Given the description of an element on the screen output the (x, y) to click on. 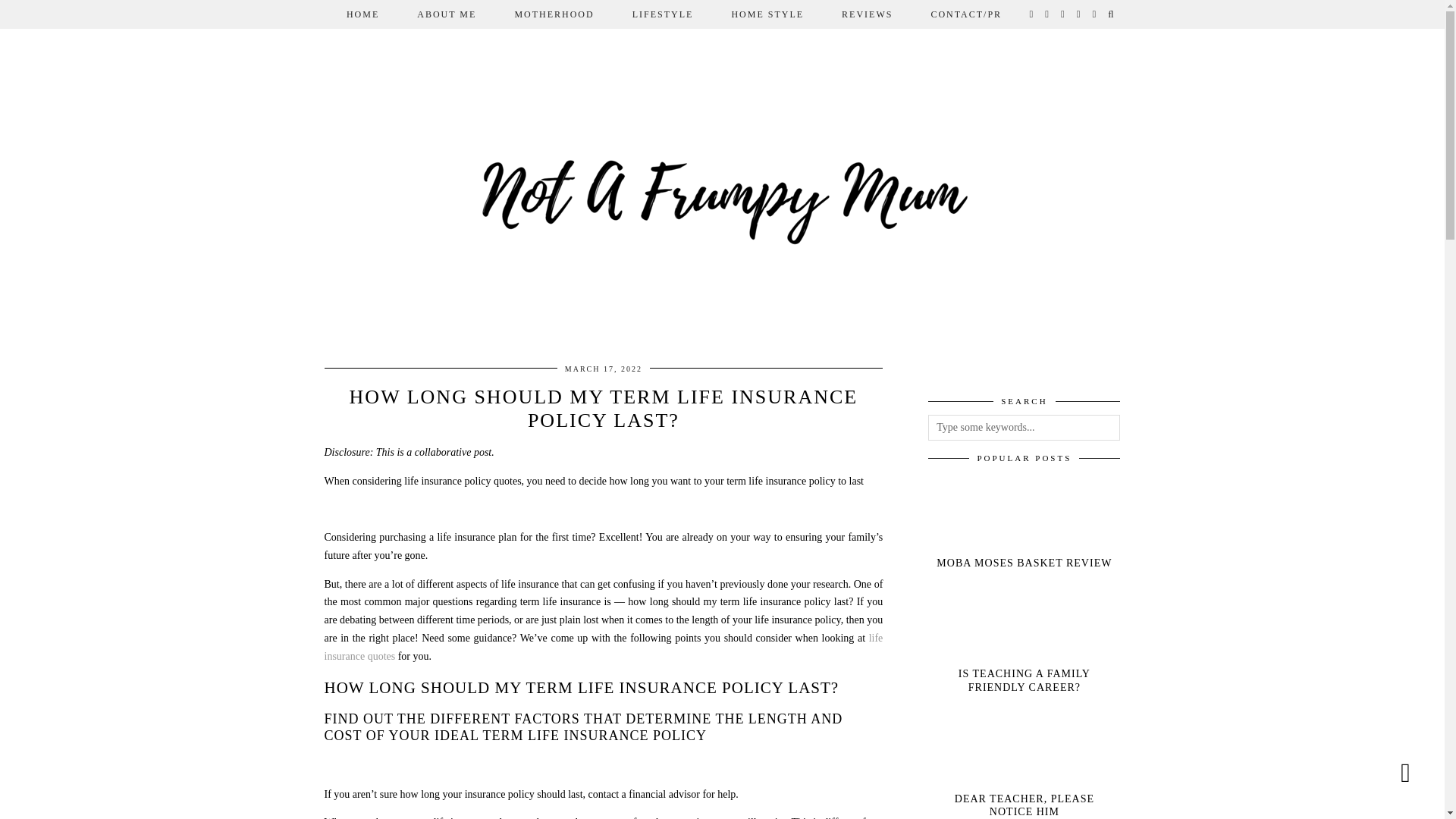
MOTHERHOOD (553, 14)
HOME STYLE (766, 14)
HOME (362, 14)
life insurance quotes (603, 646)
ABOUT ME (446, 14)
REVIEWS (866, 14)
LIFESTYLE (662, 14)
